Given the description of an element on the screen output the (x, y) to click on. 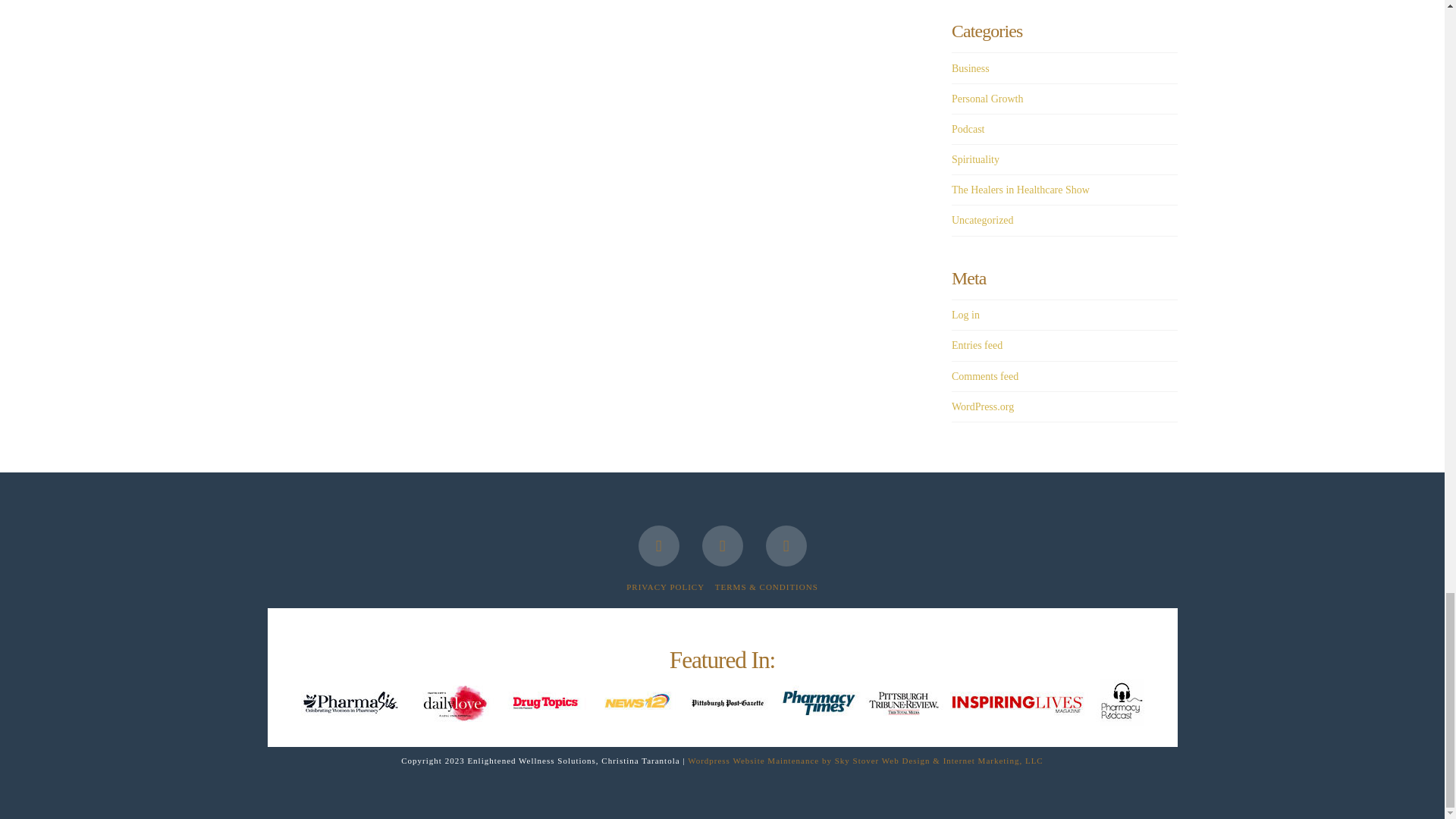
Wordpress Website Maintenance Plans (865, 759)
Facebook (659, 545)
Instagram (785, 545)
YouTube (721, 545)
